Given the description of an element on the screen output the (x, y) to click on. 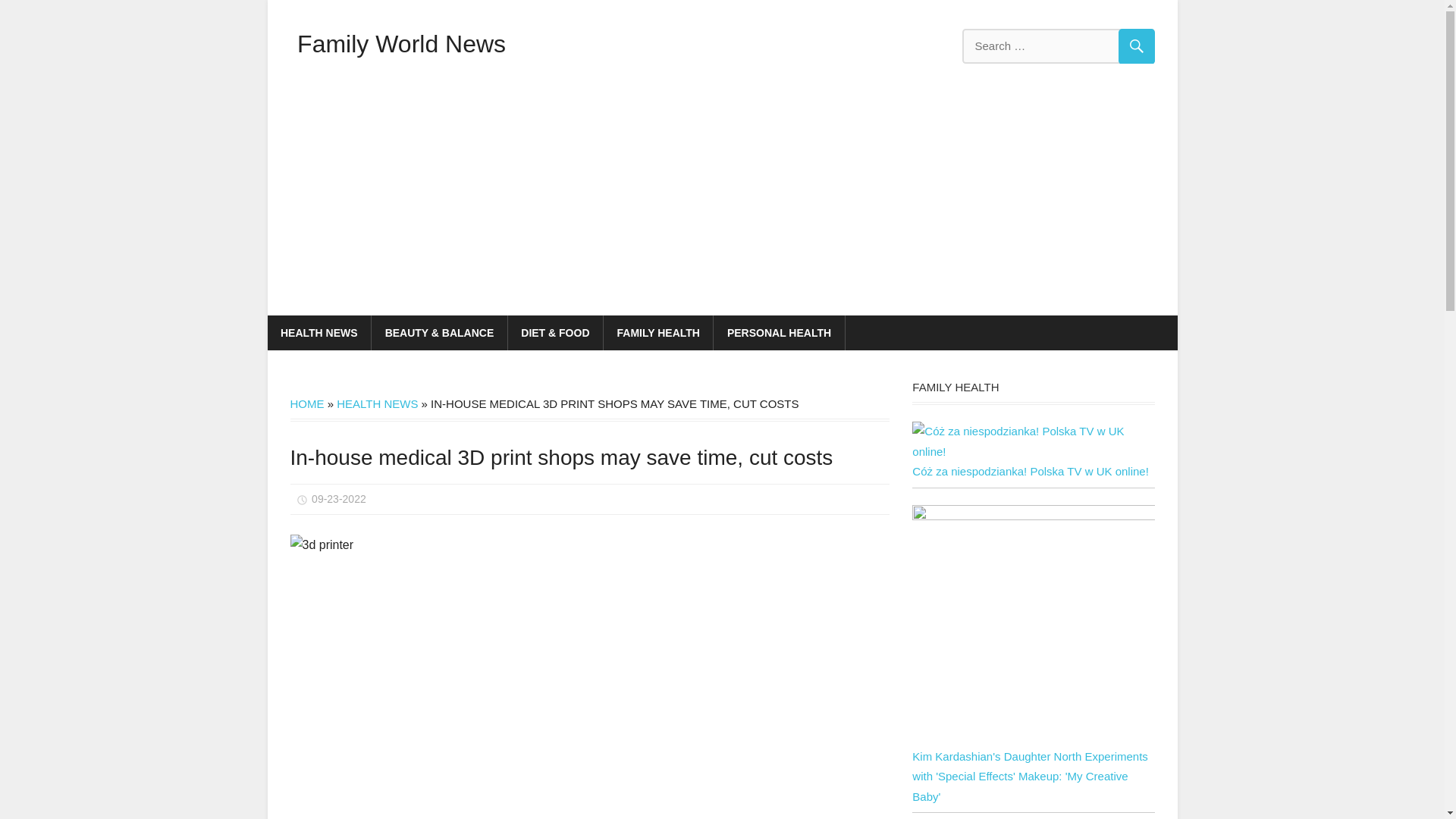
HEALTH NEWS (376, 403)
HOME (306, 403)
PERSONAL HEALTH (778, 332)
Search for: (1057, 46)
HEALTH NEWS (318, 332)
09-23-2022 (338, 499)
Health News (337, 442)
Family World News (401, 43)
09:14 (338, 499)
FAMILY HEALTH (658, 332)
